Given the description of an element on the screen output the (x, y) to click on. 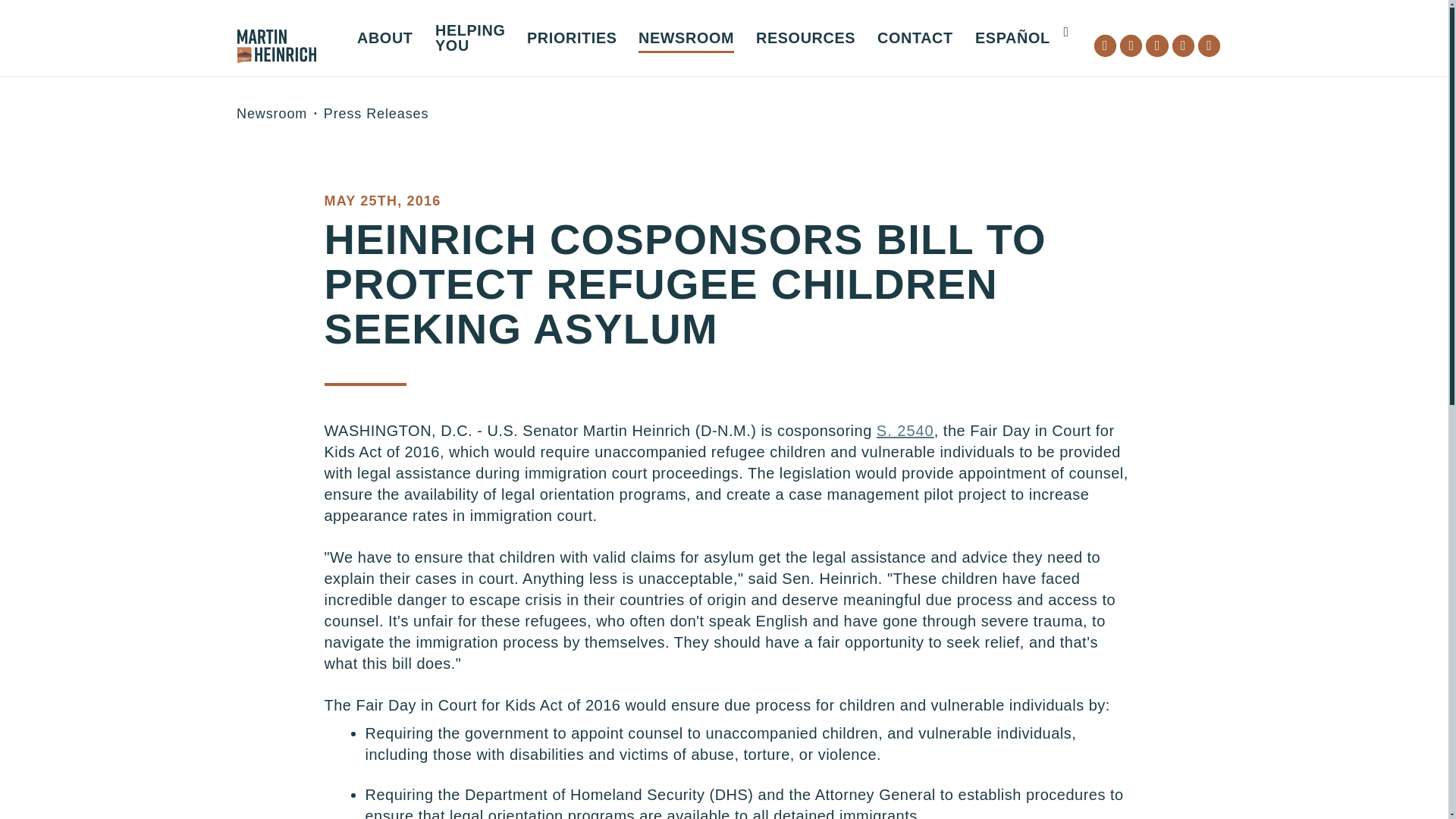
Issues (640, 73)
NEWSROOM (686, 42)
ABOUT (384, 42)
Help with a Federal Agency (548, 80)
Write Martin (991, 73)
CONTACT (915, 42)
RESOURCES (805, 42)
PRIORITIES (572, 42)
About Martin (470, 73)
Solar Toolkit (869, 73)
Congressionally Directed Spending (548, 90)
HELPING YOU (470, 41)
Skip to content (26, 26)
Press Releases (752, 73)
